Given the description of an element on the screen output the (x, y) to click on. 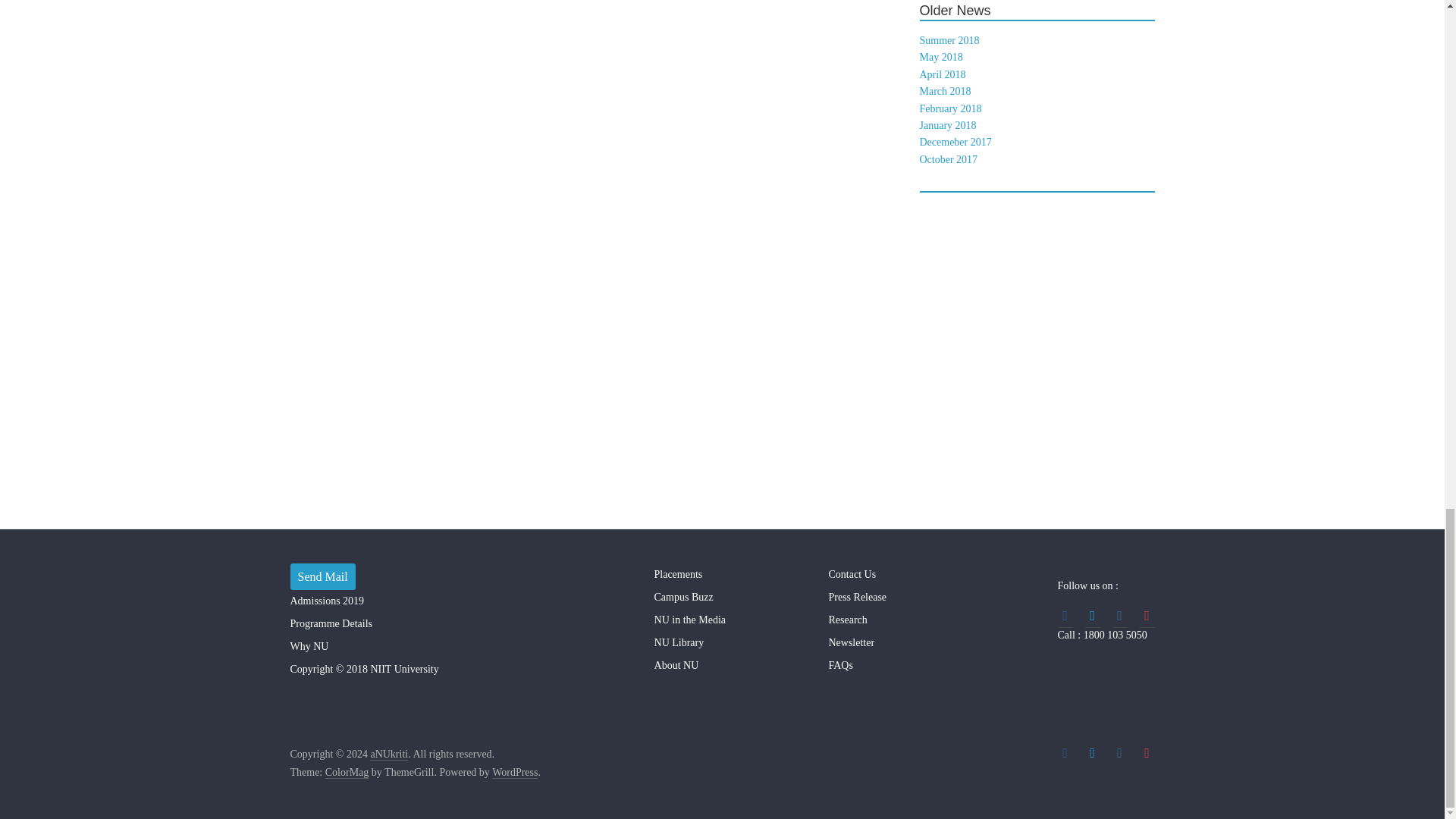
aNUkriti (388, 754)
ColorMag (346, 772)
WordPress (514, 772)
